Given the description of an element on the screen output the (x, y) to click on. 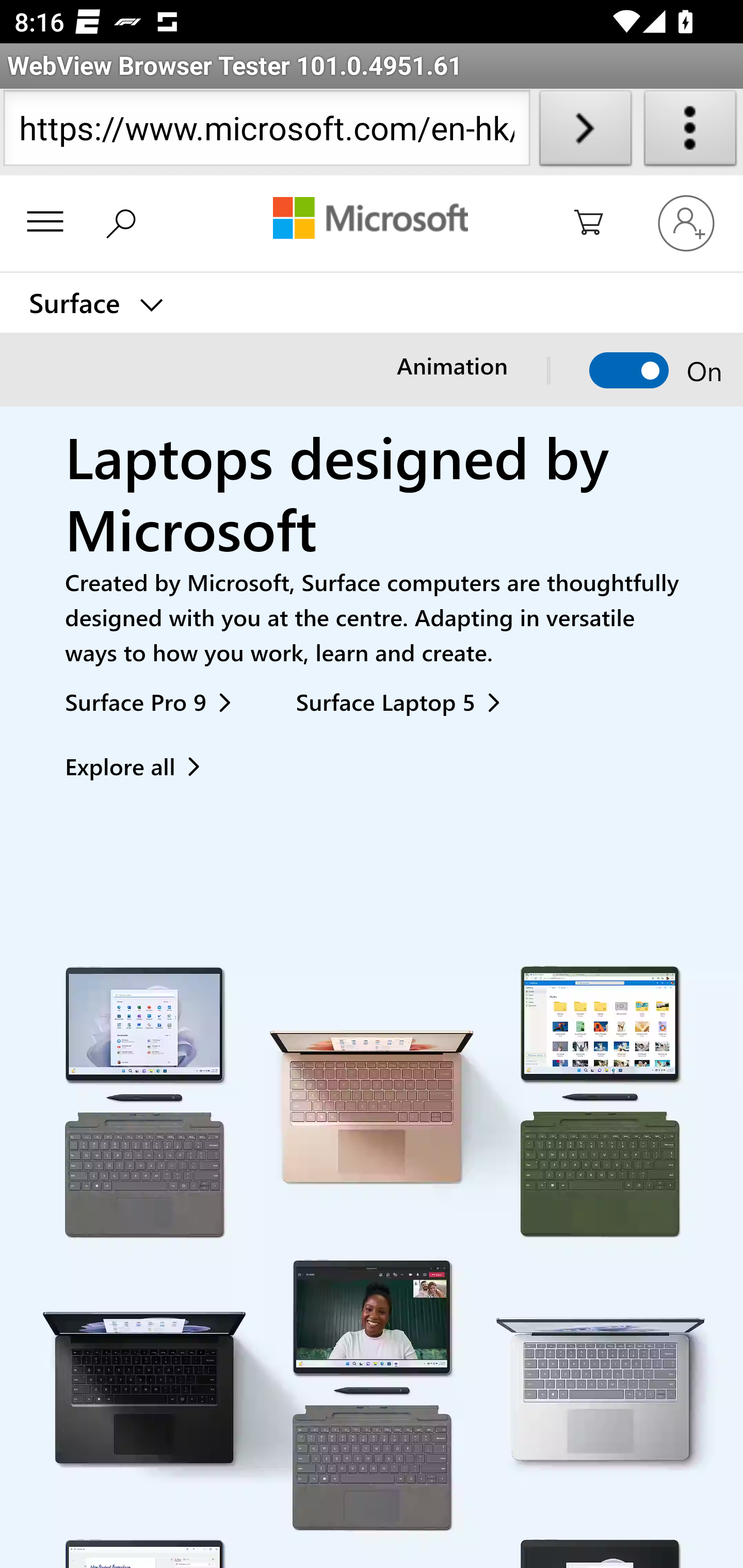
Load URL (585, 132)
About WebView (690, 132)
Microsoft (370, 219)
0 items in shopping cart  (600, 223)
Sign in to your account (686, 222)
Search Microsoft.com (124, 219)
Surface (94, 302)
Animation On (628, 371)
Shop Surface Pro 9 Surface Pro 9 (156, 701)
Shop Surface Laptop 5 Surface Laptop 5 (405, 701)
Explore all Surface Products Explore all (140, 765)
